Given the description of an element on the screen output the (x, y) to click on. 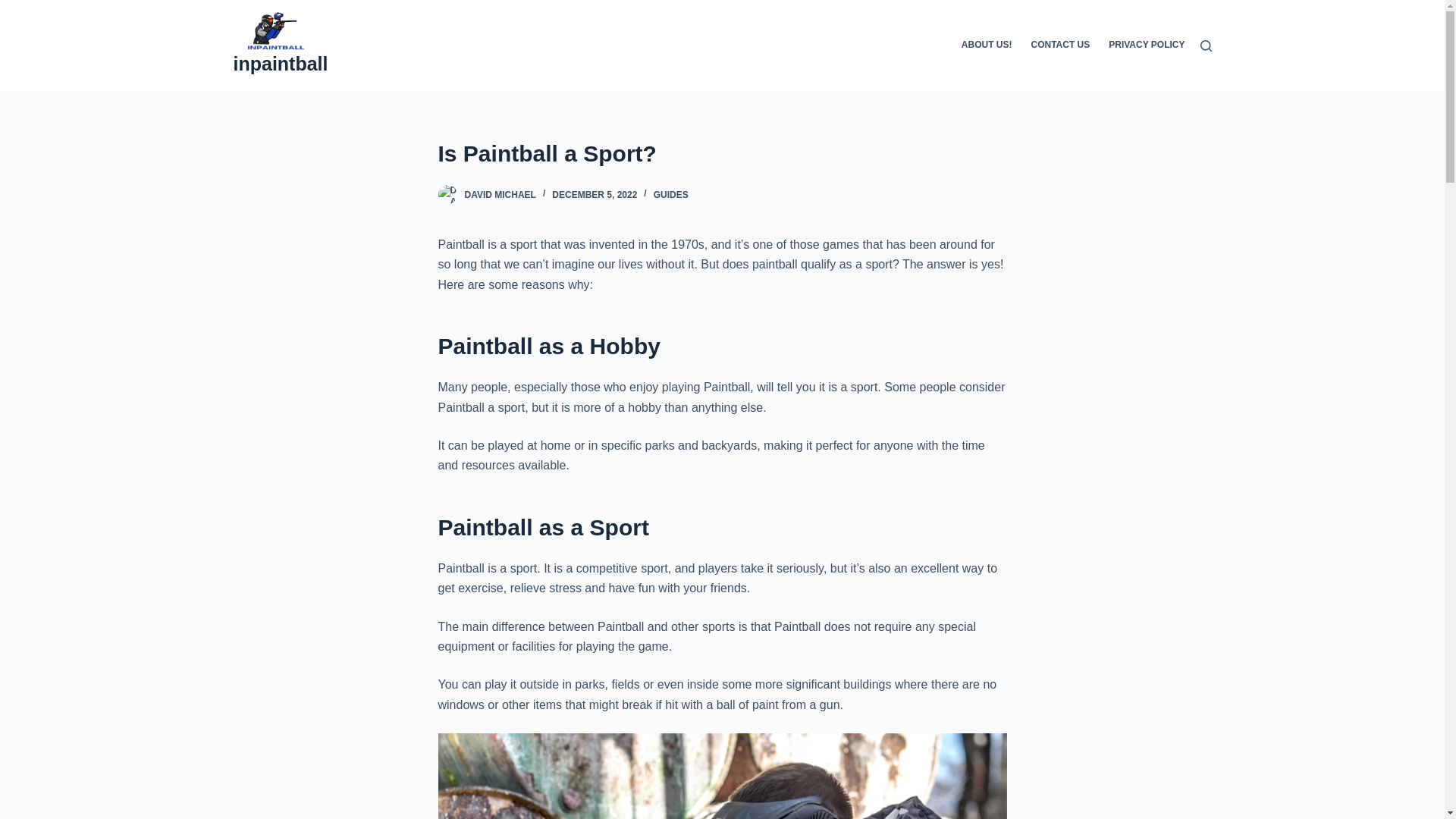
Is Paintball a Sport? (722, 153)
GUIDES (670, 194)
inpaintball (280, 63)
PRIVACY POLICY (1142, 45)
DAVID MICHAEL (499, 194)
Skip to content (15, 7)
Posts by David Michael (499, 194)
